Given the description of an element on the screen output the (x, y) to click on. 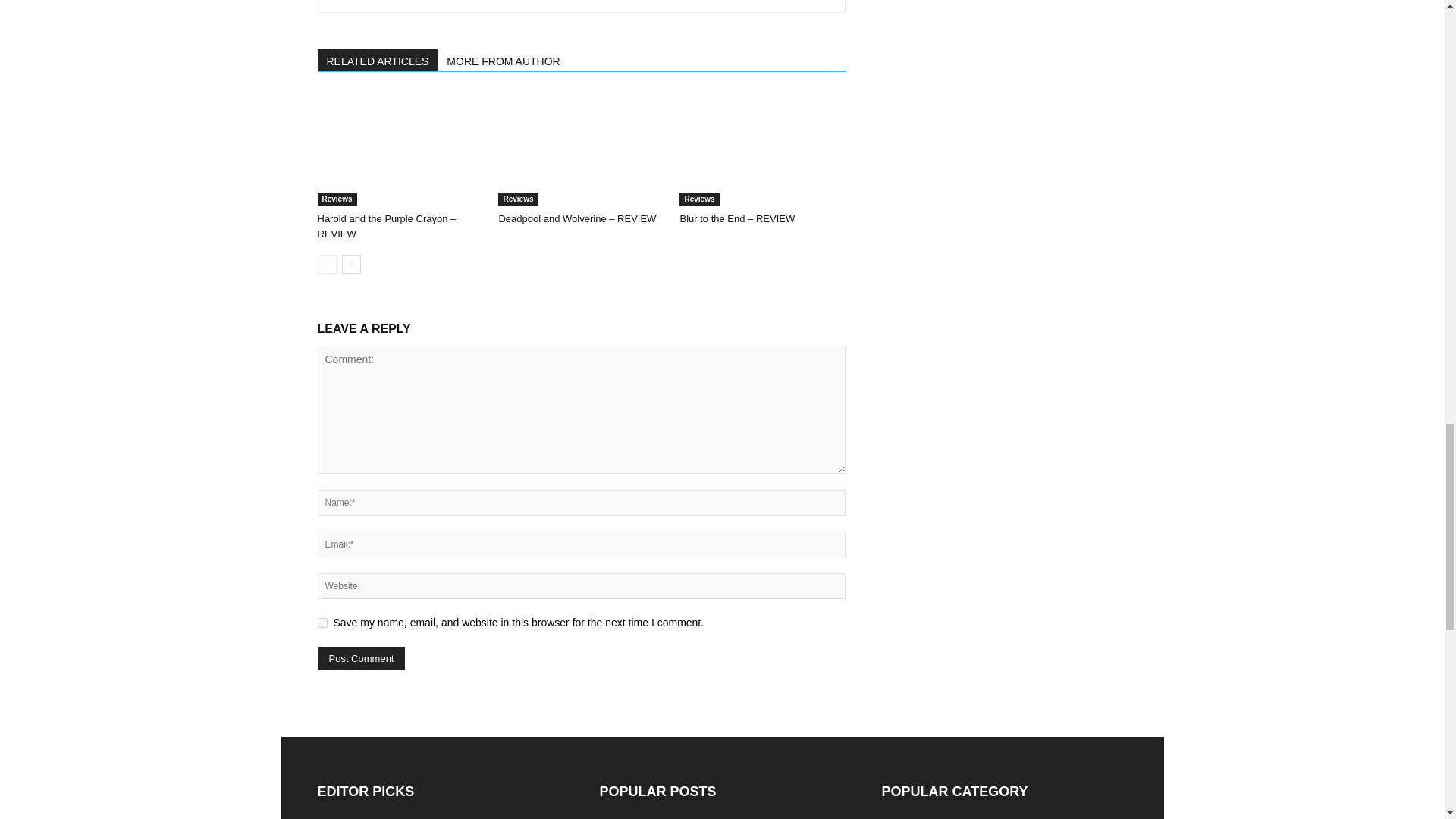
yes (321, 623)
Post Comment (360, 658)
